Given the description of an element on the screen output the (x, y) to click on. 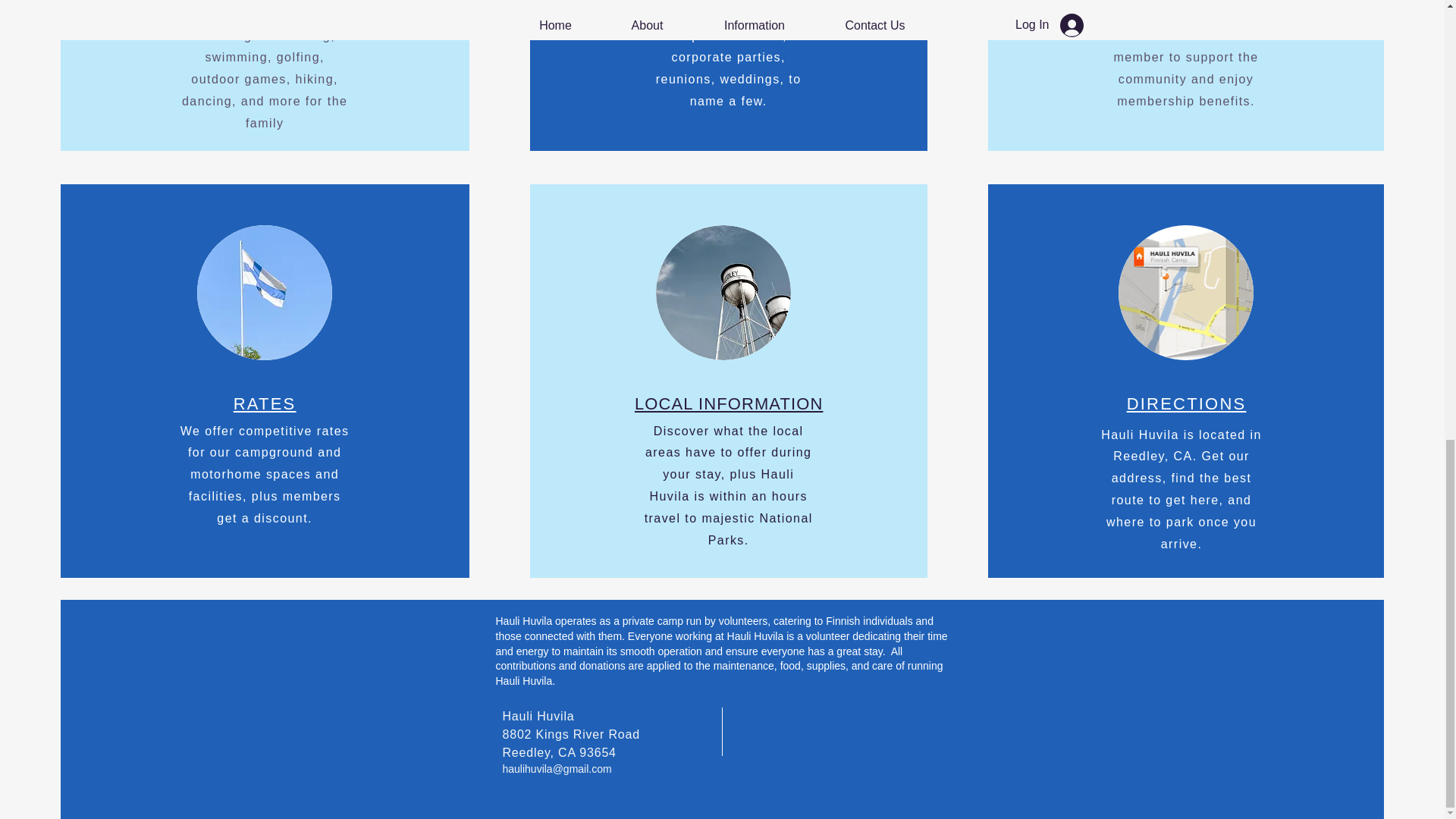
LOCAL INFORMATION (729, 403)
RATES (264, 403)
DIRECTIONS (1186, 403)
